Given the description of an element on the screen output the (x, y) to click on. 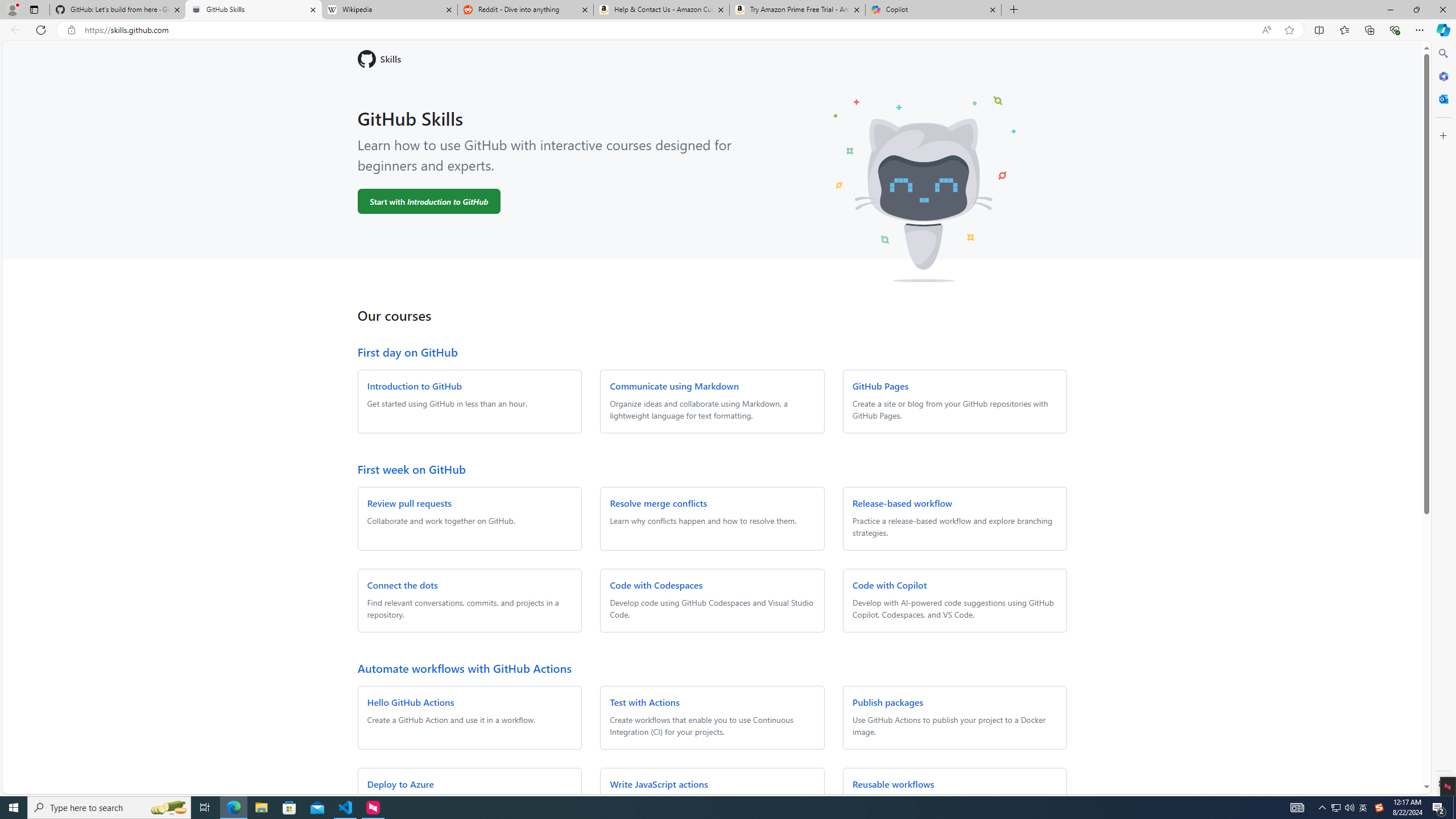
First day on GitHub (406, 351)
Communicate using Markdown (674, 385)
GitHub Pages (879, 385)
Introduction to GitHub (413, 385)
Start with Introduction to GitHub (428, 201)
Skills (711, 58)
GitHub Skills (253, 9)
Automate workflows with GitHub Actions (464, 667)
Resolve merge conflicts (658, 503)
